Given the description of an element on the screen output the (x, y) to click on. 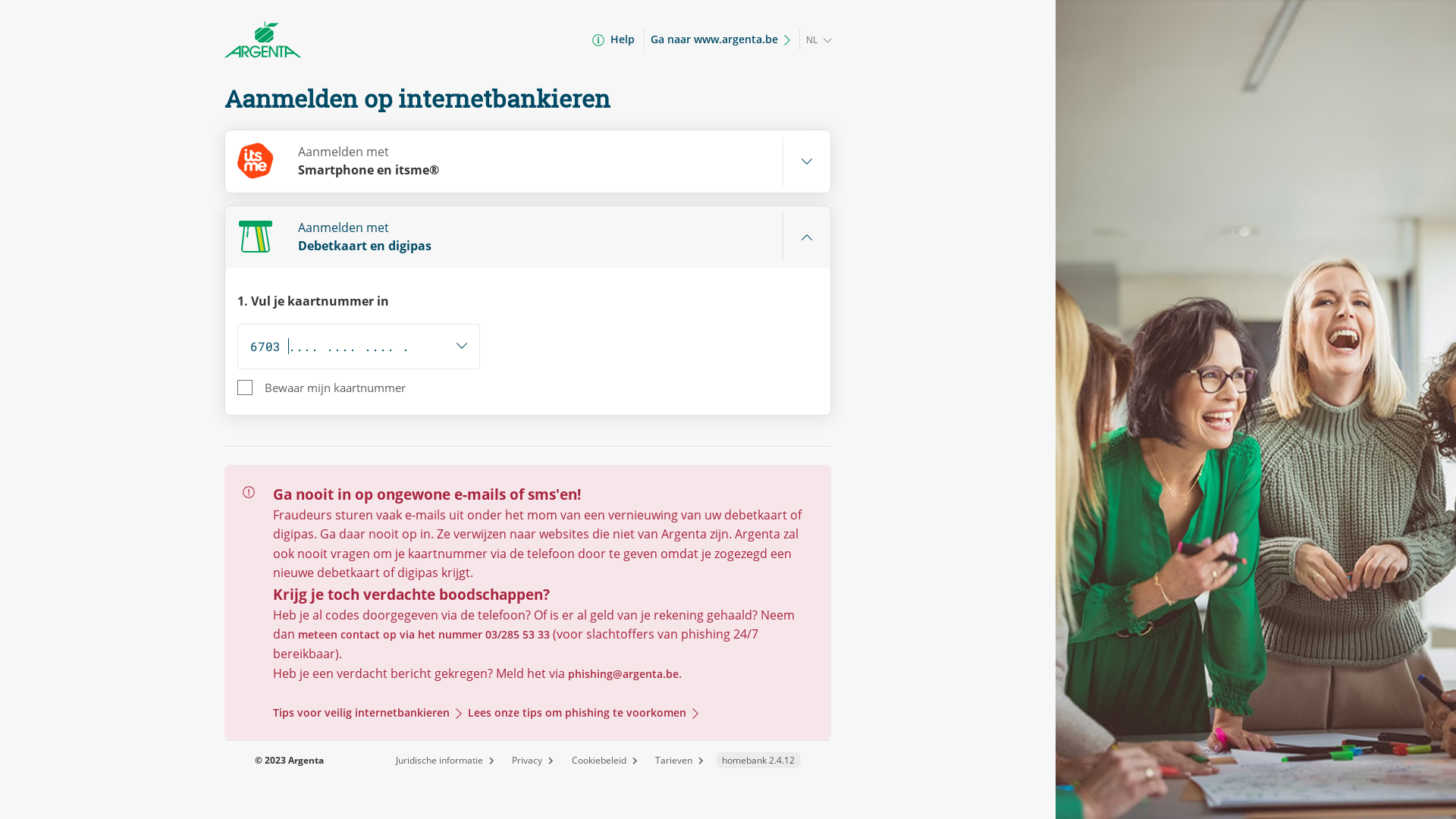
Privacy Element type: text (532, 760)
Help Element type: text (612, 39)
meteen contact op via het nummer 03/285 53 33 Element type: text (423, 634)
Tips voor veilig internetbankieren Element type: text (367, 712)
Ga naar www.argenta.be Element type: text (720, 39)
Lees onze tips om phishing te voorkomen Element type: text (579, 712)
phishing@argenta.be Element type: text (622, 673)
Juridische informatie Element type: text (444, 760)
NL Element type: text (818, 39)
Tarieven Element type: text (679, 760)
Cookiebeleid Element type: text (604, 760)
